Given the description of an element on the screen output the (x, y) to click on. 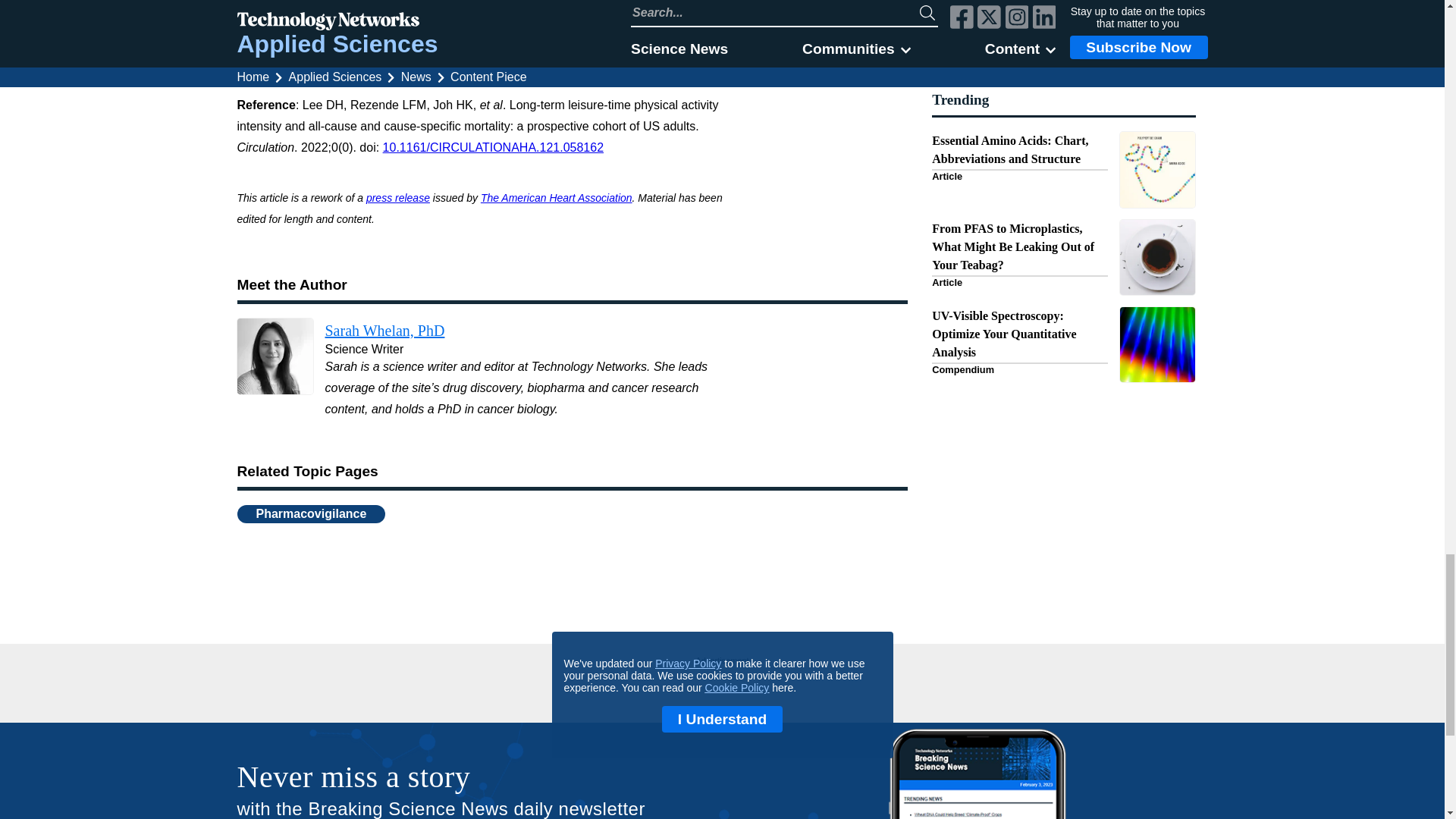
3rd party ad content (721, 687)
